Given the description of an element on the screen output the (x, y) to click on. 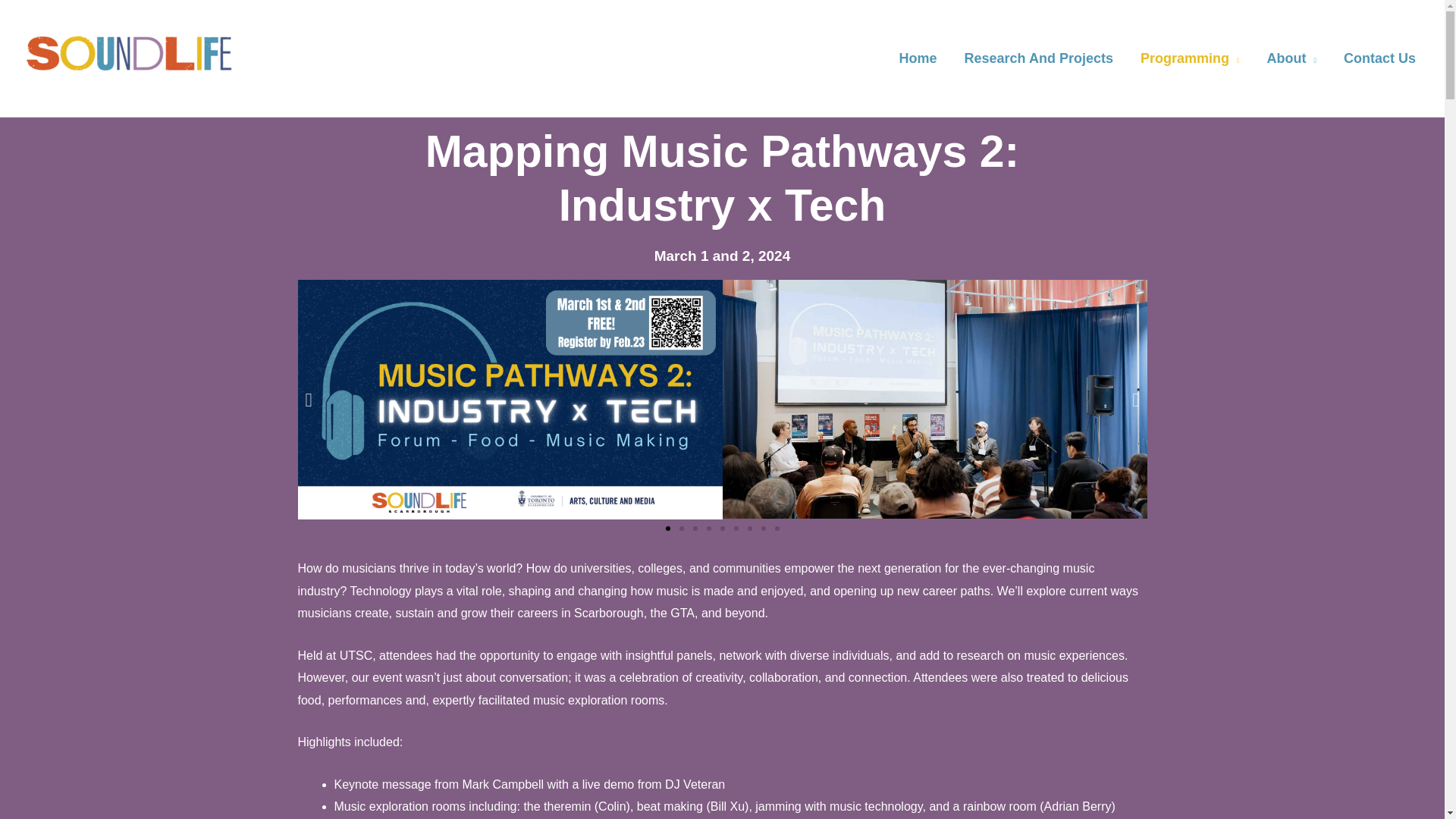
Contact Us (1379, 57)
Research And Projects (1038, 57)
Programming (1189, 57)
About (1291, 57)
Home (917, 57)
